Given the description of an element on the screen output the (x, y) to click on. 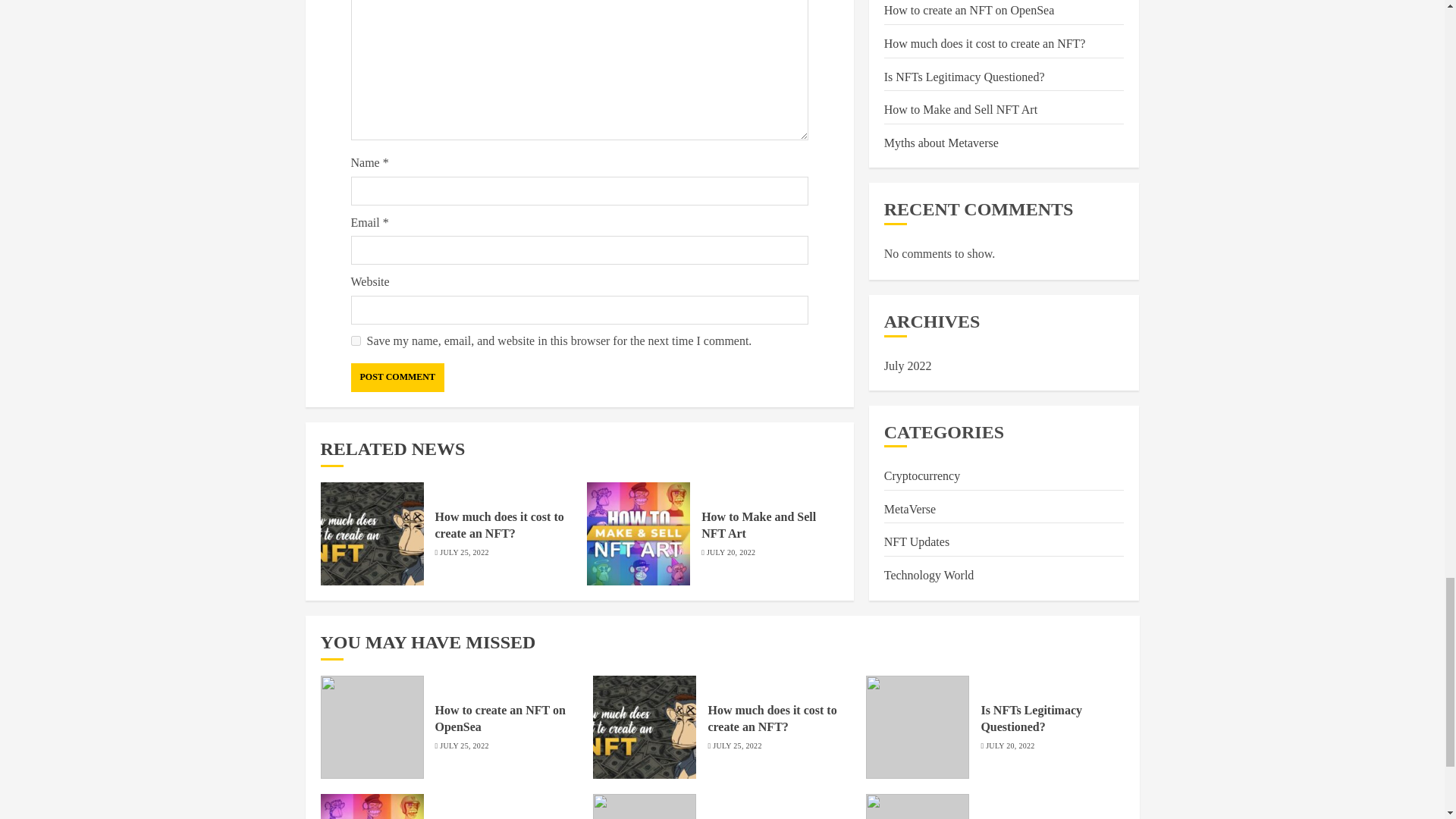
How to Make and Sell NFT Art (758, 525)
Post Comment (397, 376)
yes (354, 340)
How much does it cost to create an NFT? (499, 525)
JULY 20, 2022 (730, 552)
Post Comment (397, 376)
JULY 25, 2022 (463, 552)
